Given the description of an element on the screen output the (x, y) to click on. 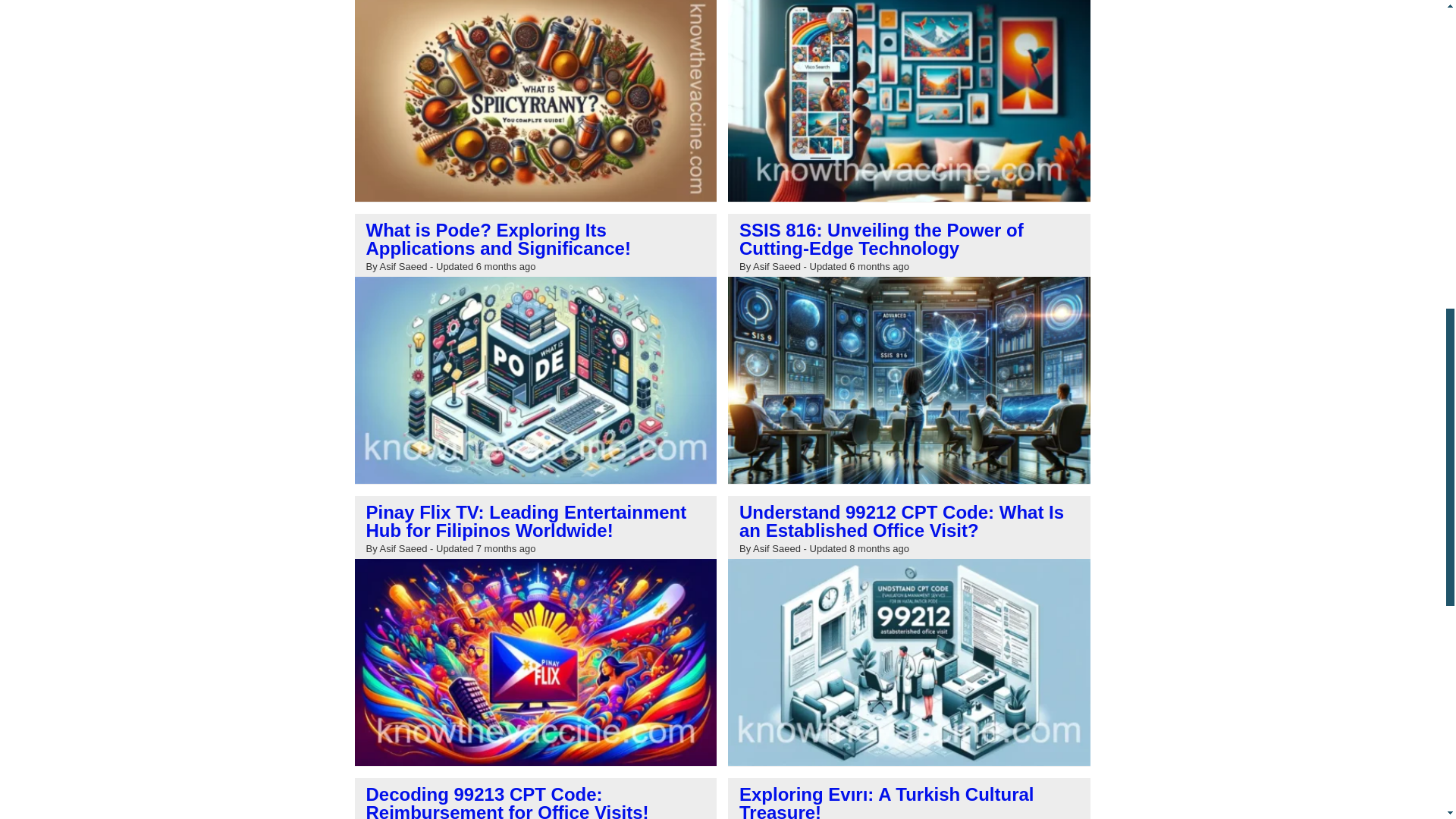
SSIS 816: Unveiling the Power of Cutting-Edge Technology (881, 239)
What is Pode? Exploring Its Applications and Significance! (497, 239)
